Given the description of an element on the screen output the (x, y) to click on. 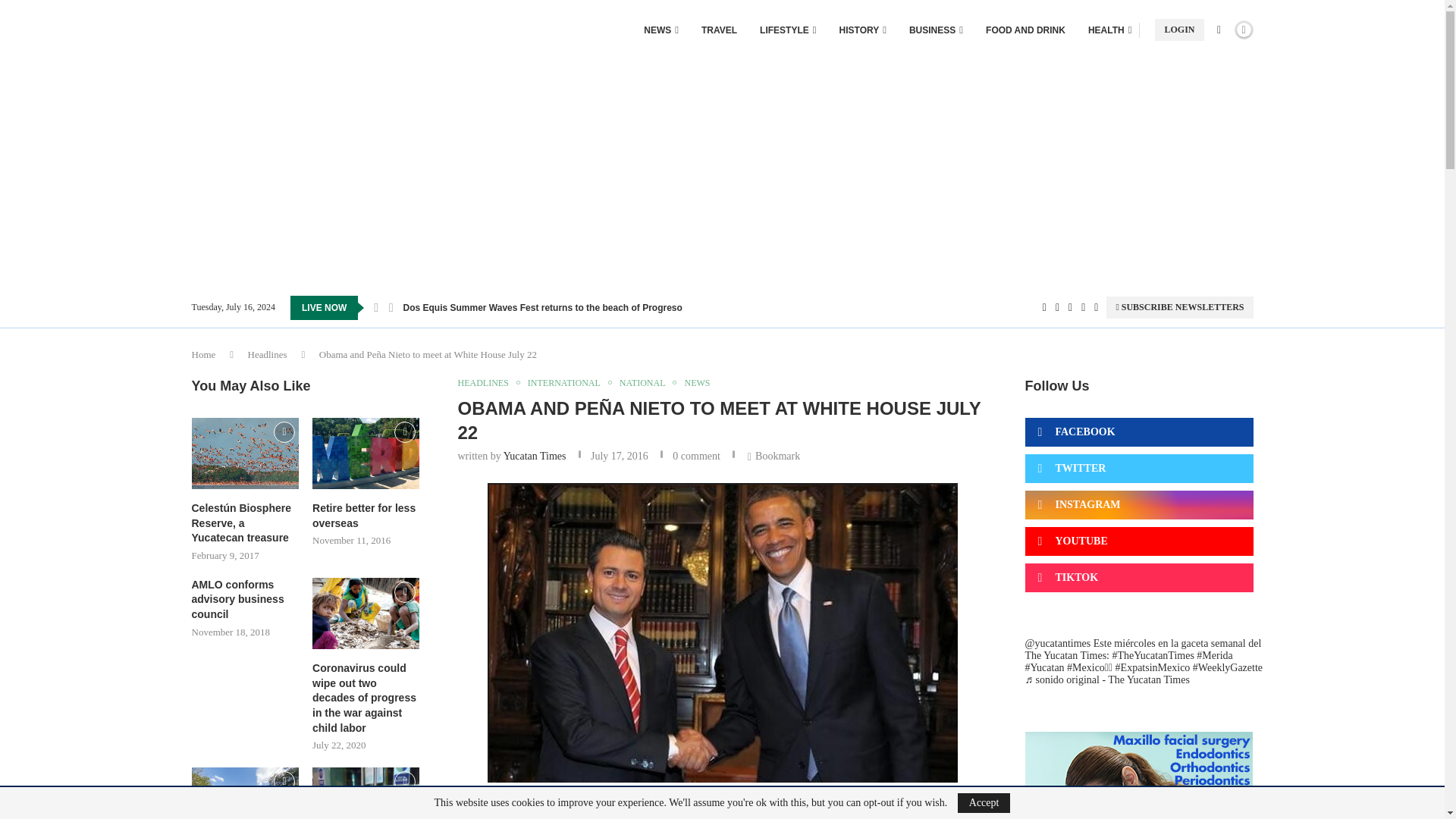
LIFESTYLE (787, 30)
TRAVEL (718, 30)
NEWS (660, 30)
